Given the description of an element on the screen output the (x, y) to click on. 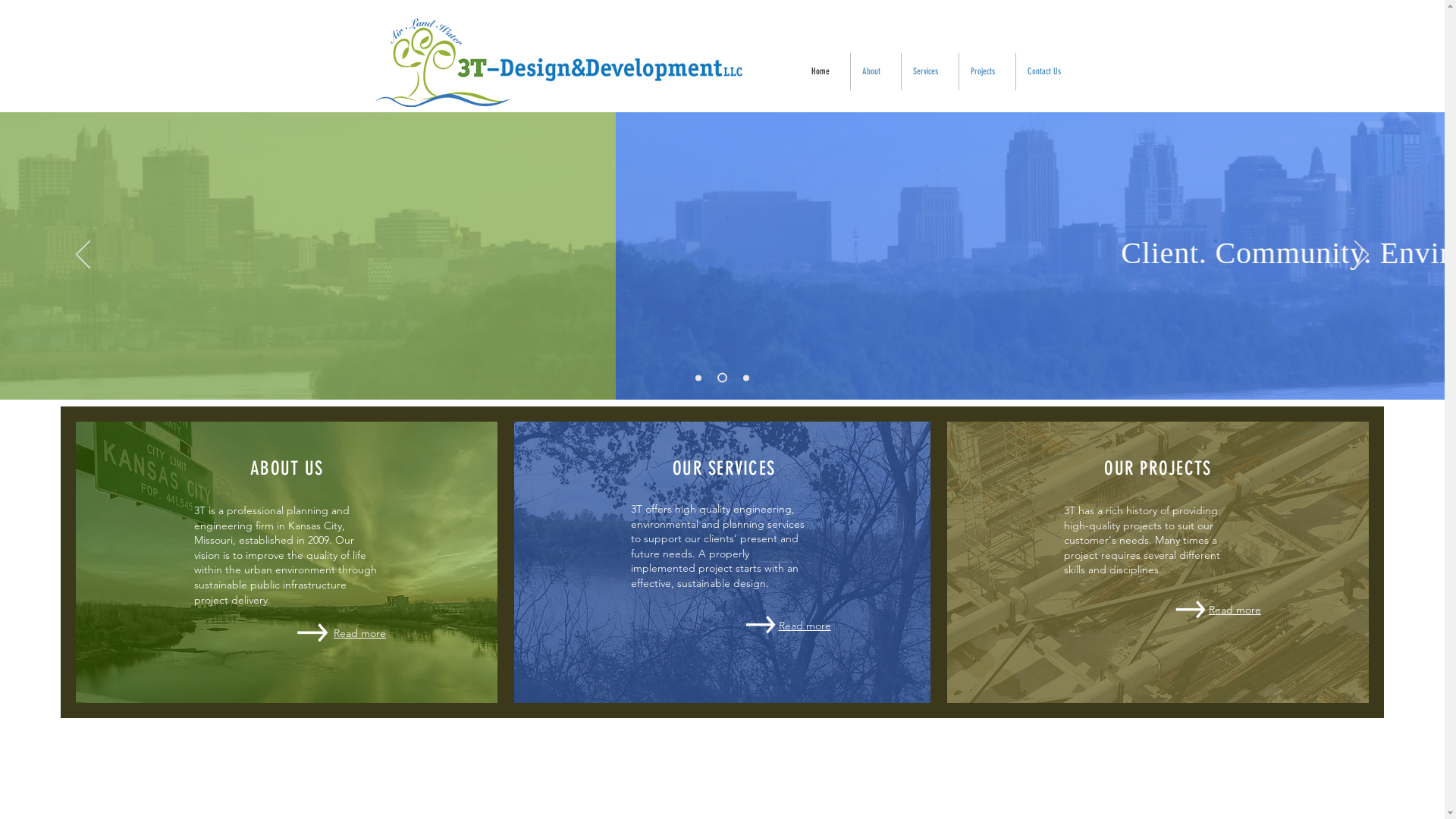
OUR PROJECTS Element type: text (1157, 468)
Read more Element type: text (804, 625)
About Element type: text (875, 71)
Contact Us Element type: text (1048, 71)
OUR SERVICES Element type: text (723, 468)
Read more Element type: text (1234, 609)
ABOUT US Element type: text (286, 468)
Projects Element type: text (986, 71)
Services Element type: text (928, 71)
Read more Element type: text (359, 633)
Read more Element type: hover (312, 631)
Home Element type: text (824, 71)
